Given the description of an element on the screen output the (x, y) to click on. 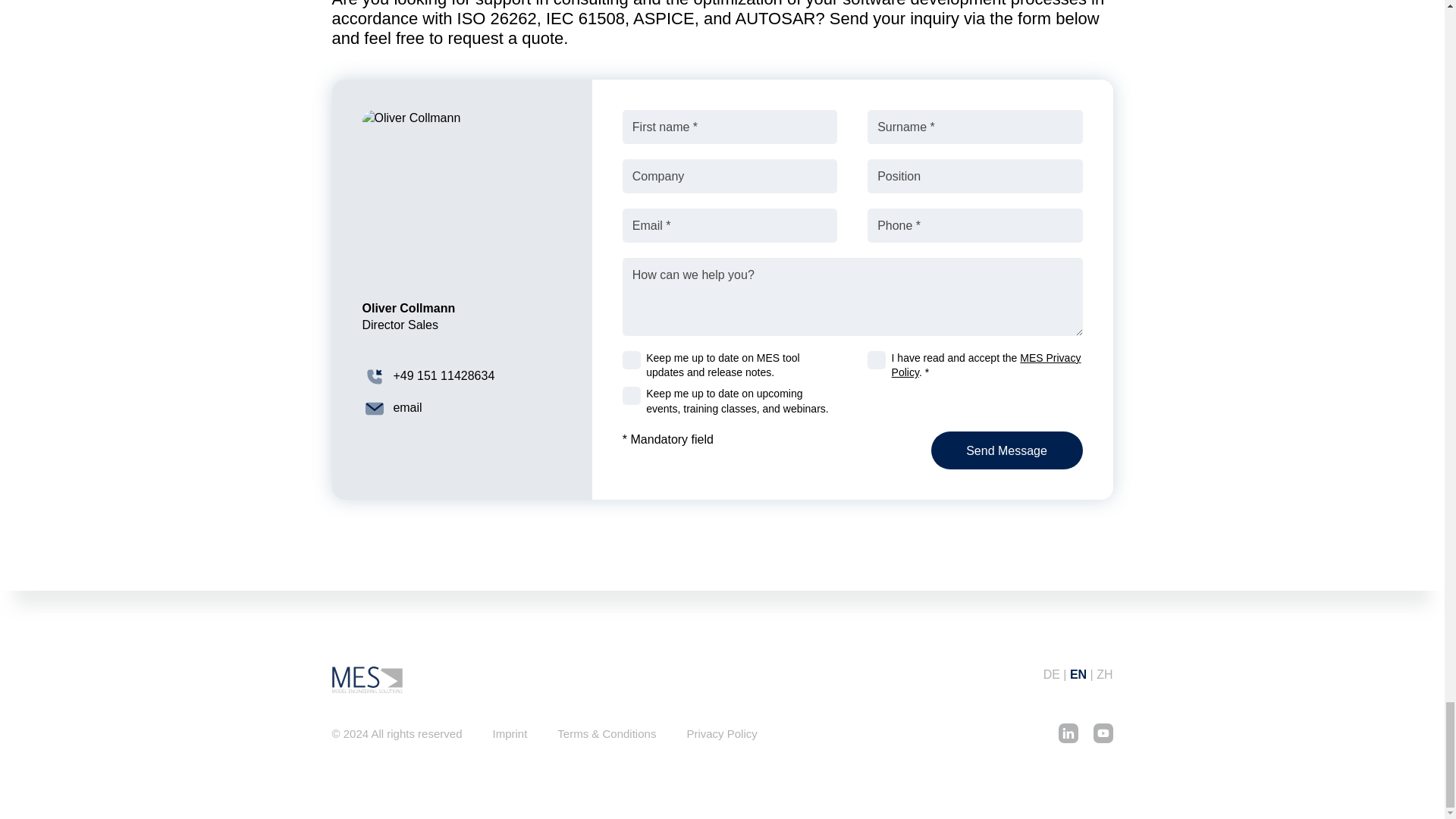
Keep me up to date on MES tool updates and release notes. (631, 360)
I have read and accept the MES Privacy Policy. (876, 360)
